Given the description of an element on the screen output the (x, y) to click on. 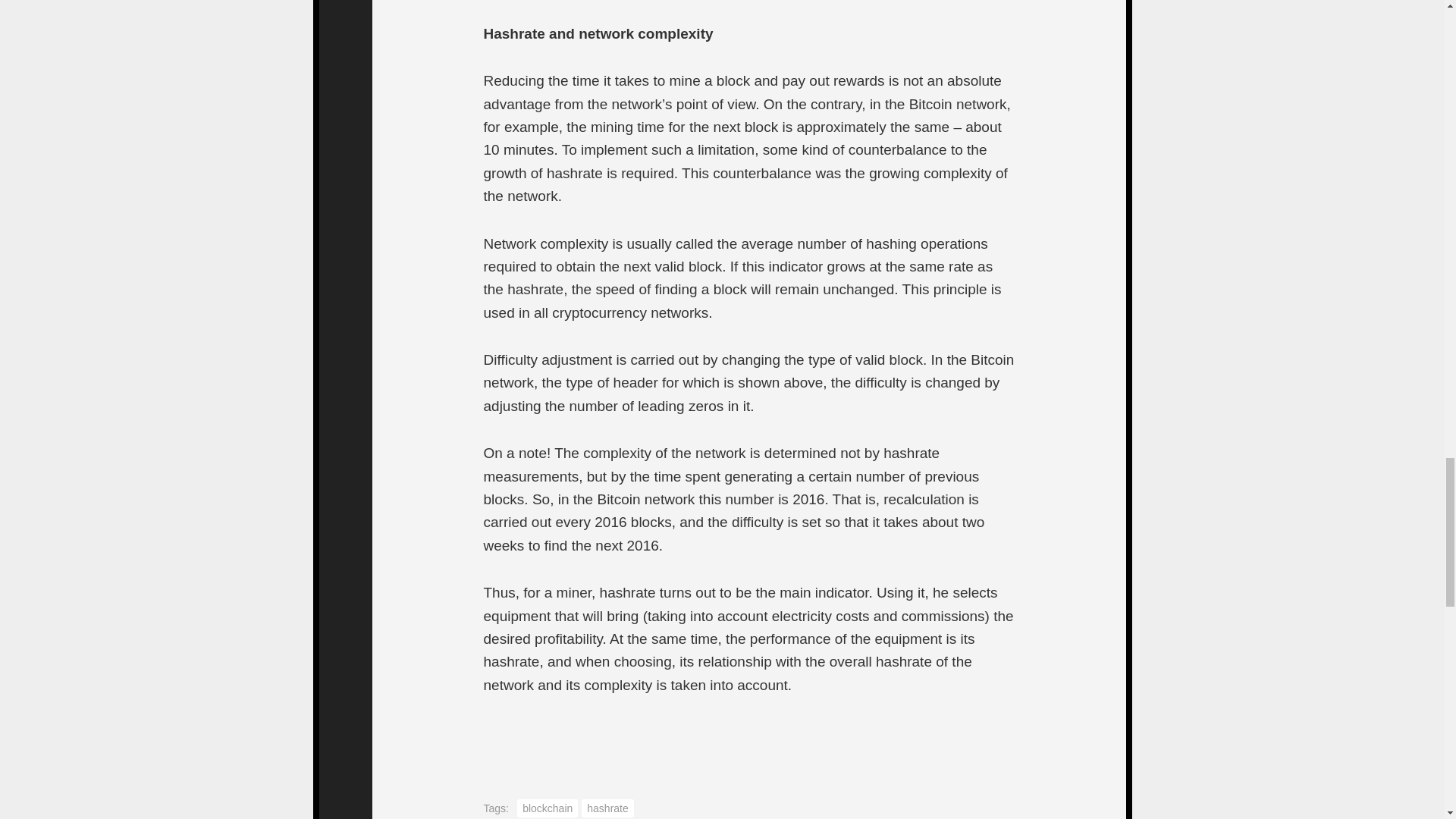
hashrate (606, 808)
blockchain (547, 808)
